Given the description of an element on the screen output the (x, y) to click on. 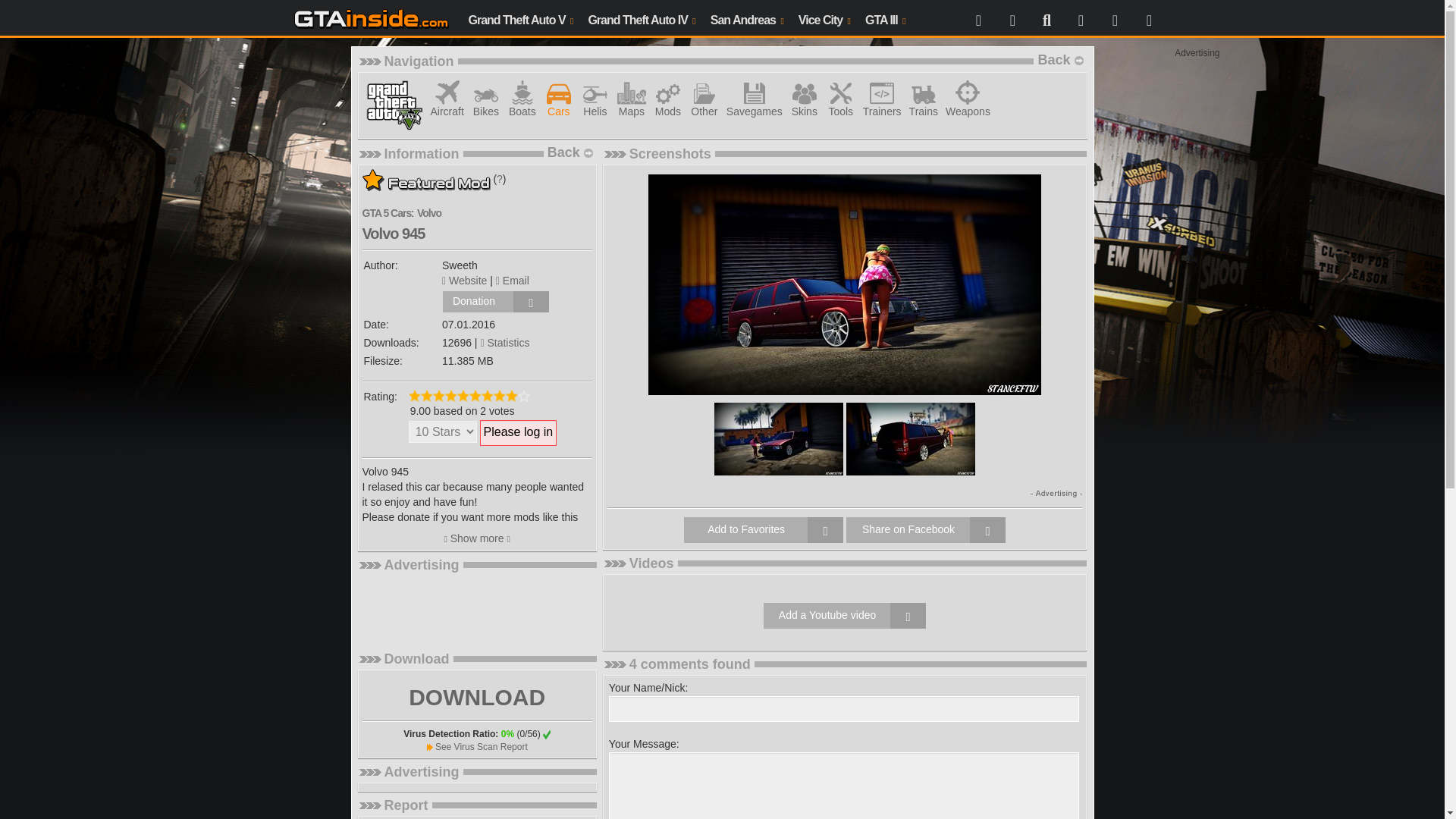
Notifications (1148, 18)
Volvo 945 (910, 438)
Volvo 945 (778, 438)
Search (1046, 18)
Upload your mod (1079, 18)
Add this mod to your GTAinside Favorites (763, 529)
Volvo 945 (844, 283)
Your Profile (1011, 18)
Menu (977, 18)
Grand Theft Auto V (520, 18)
